Given the description of an element on the screen output the (x, y) to click on. 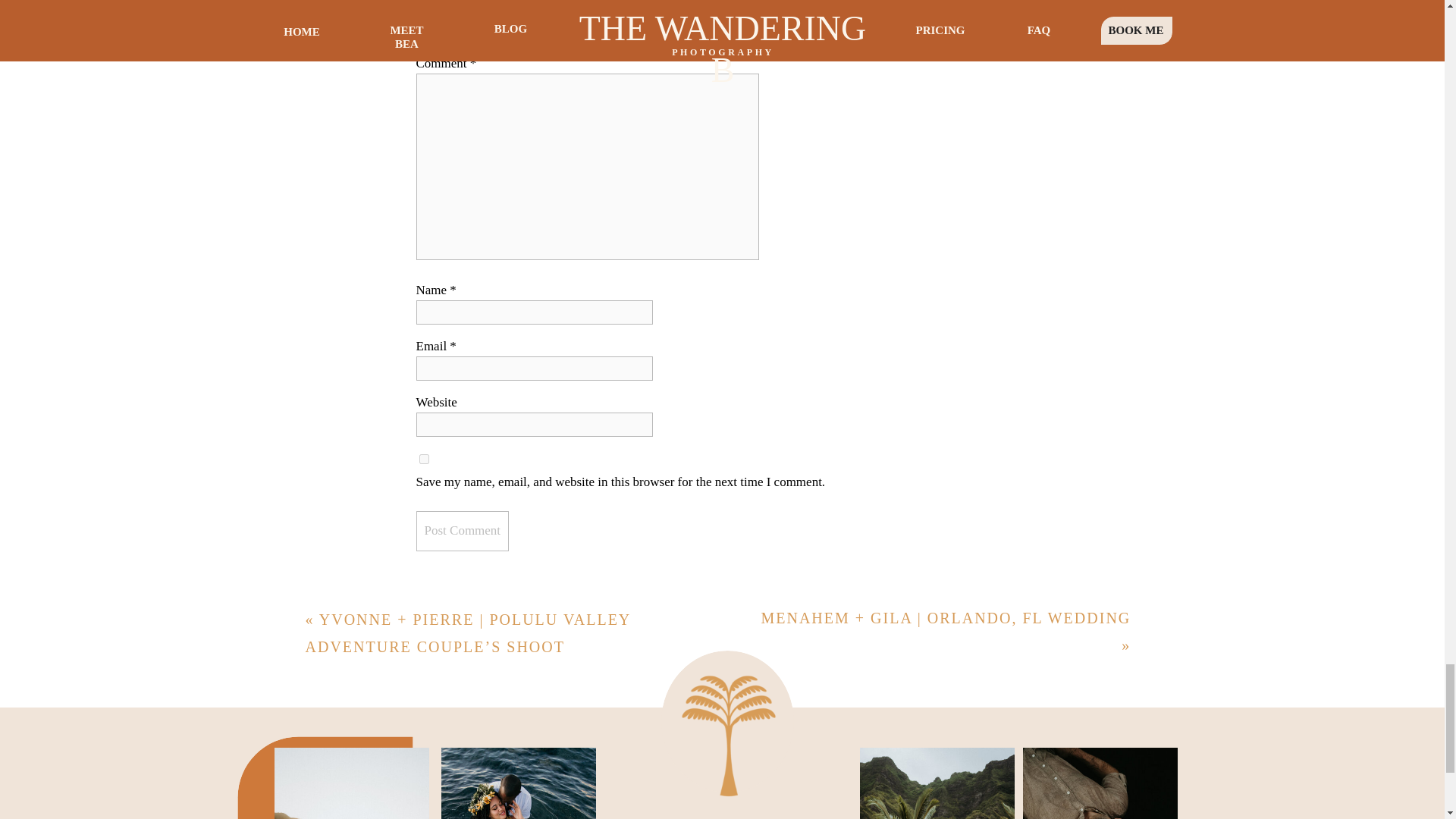
Post Comment (461, 531)
Post Comment (461, 531)
yes (423, 459)
